Given the description of an element on the screen output the (x, y) to click on. 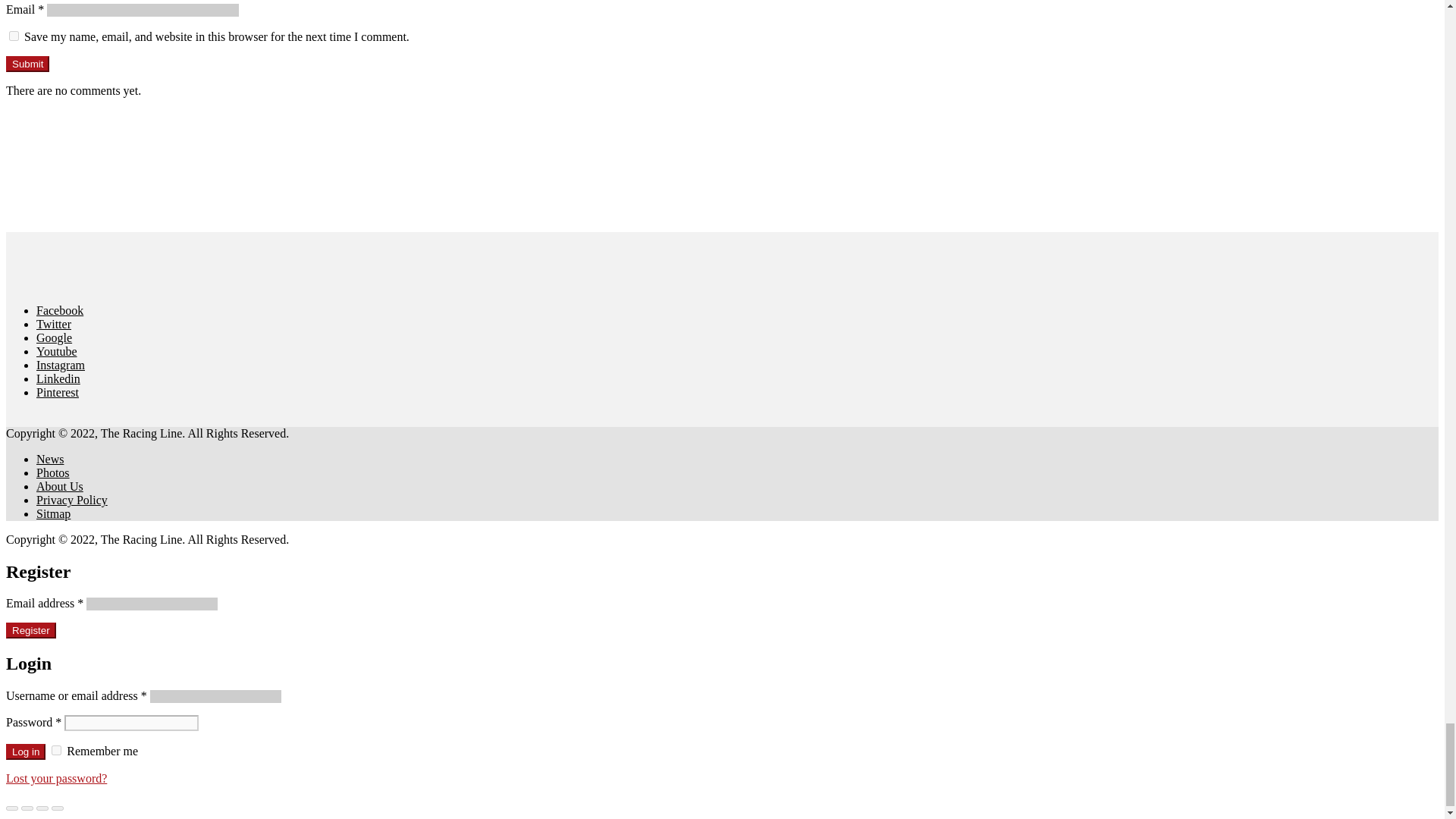
yes (13, 35)
Submit (27, 64)
forever (55, 750)
